Given the description of an element on the screen output the (x, y) to click on. 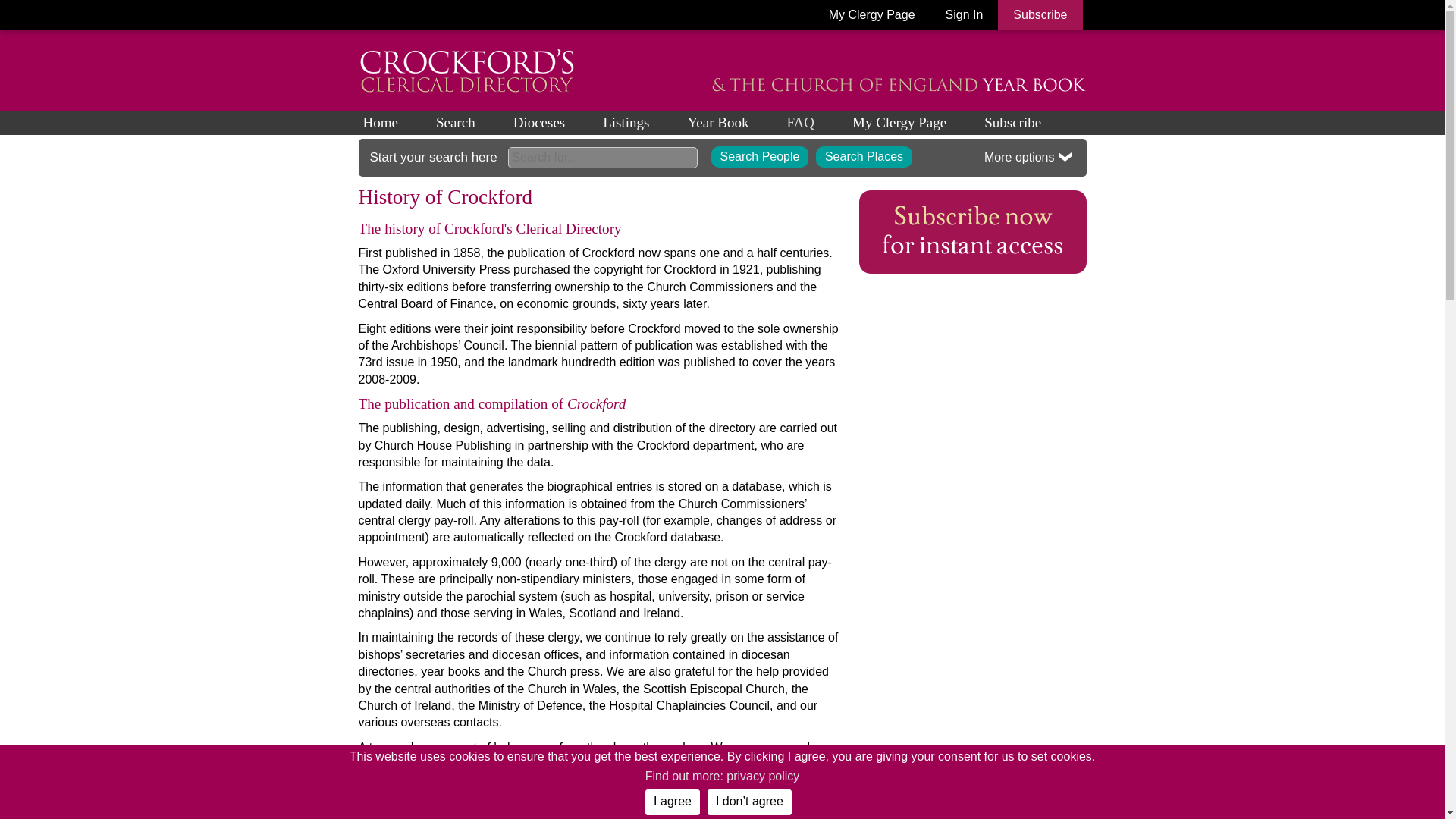
Subscribe (1012, 122)
I agree (672, 801)
Sign In (964, 15)
Dioceses (558, 122)
Find out more: privacy policy (722, 776)
Search People (760, 156)
Search People (760, 156)
Search Places (863, 156)
Search (474, 122)
Listings (644, 122)
My Clergy Page (871, 15)
Subscribe (1039, 15)
Home (398, 122)
Year Book (736, 122)
Subscribe to Crockford's (972, 231)
